Given the description of an element on the screen output the (x, y) to click on. 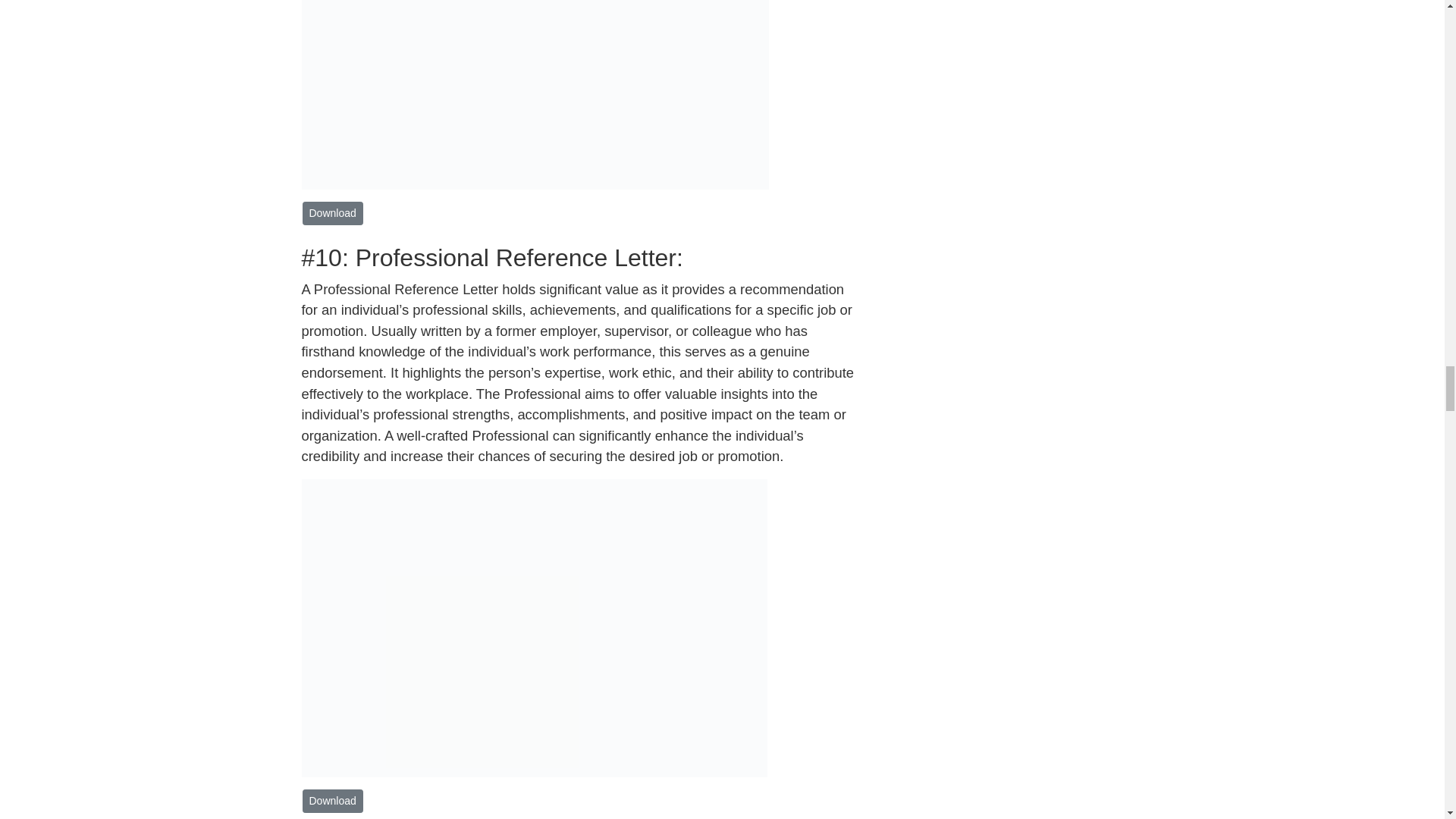
Download (331, 213)
Download (331, 801)
